Given the description of an element on the screen output the (x, y) to click on. 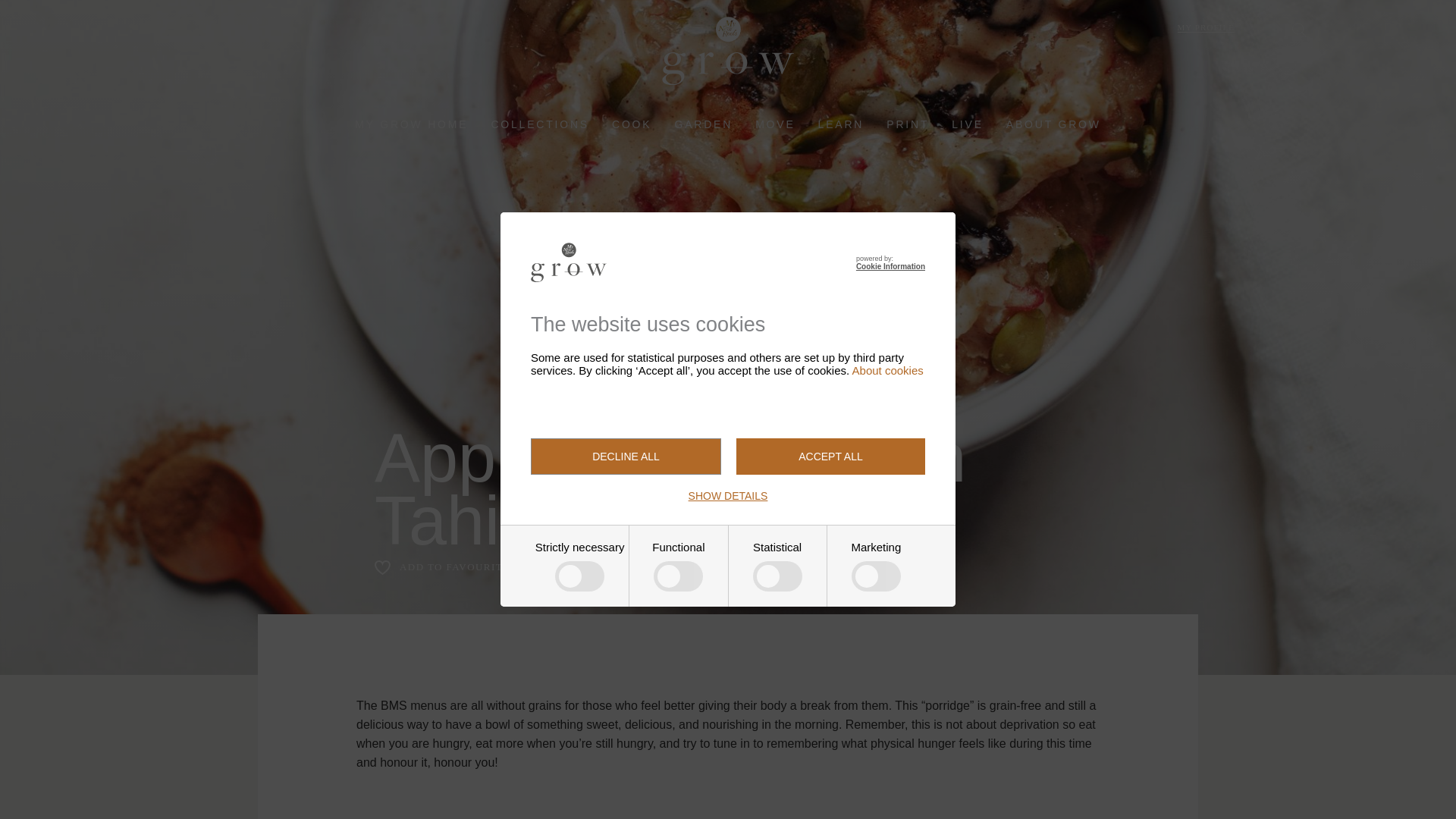
ACCEPT ALL (830, 456)
SHOW DETAILS (728, 495)
DECLINE ALL (625, 456)
About cookies (887, 369)
Cookie Information (890, 266)
